Given the description of an element on the screen output the (x, y) to click on. 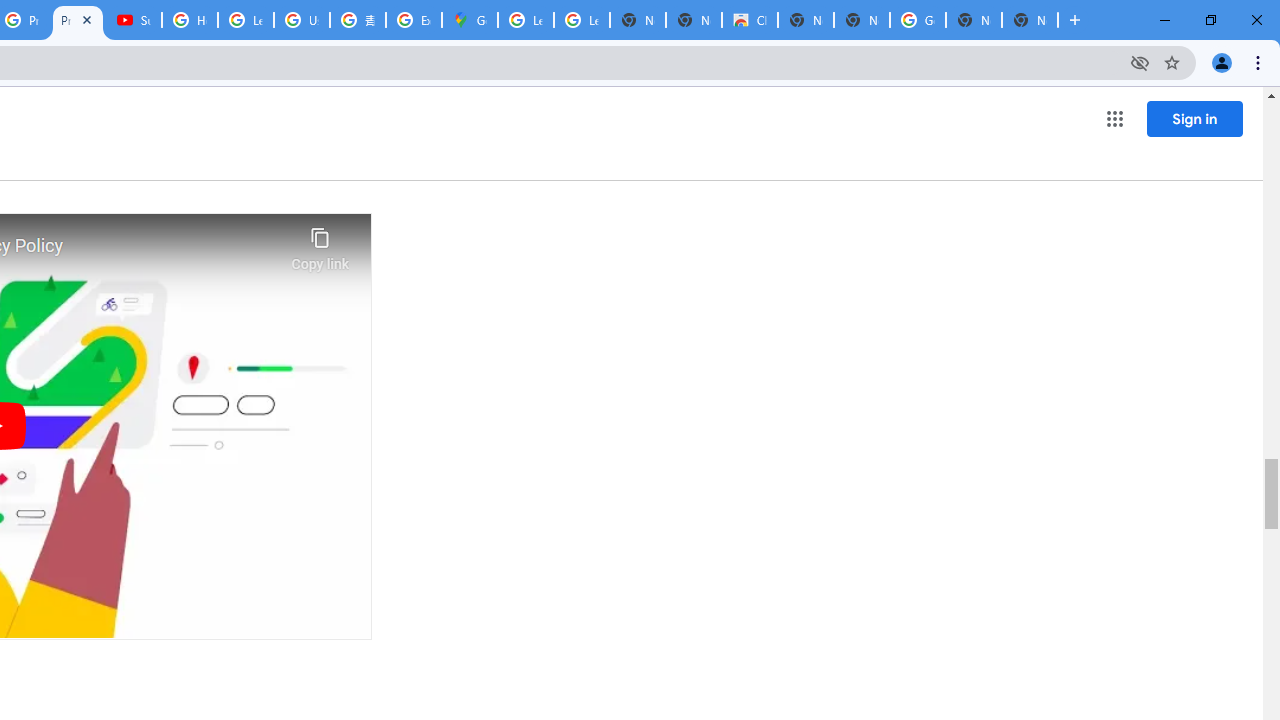
Copy link (319, 244)
Explore new street-level details - Google Maps Help (413, 20)
How Chrome protects your passwords - Google Chrome Help (189, 20)
Google Images (917, 20)
New Tab (1030, 20)
Subscriptions - YouTube (134, 20)
